Given the description of an element on the screen output the (x, y) to click on. 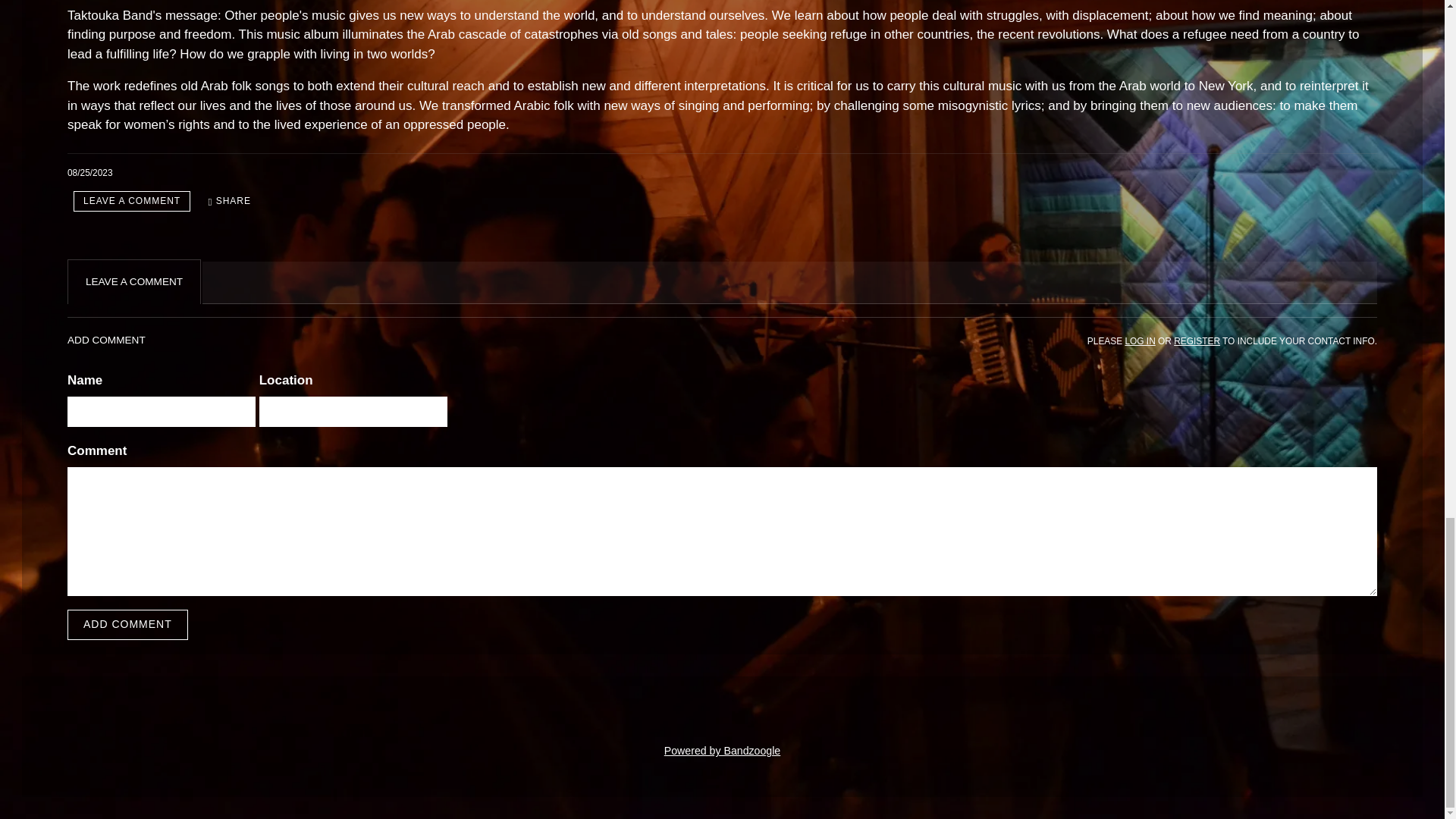
Leave a comment (132, 200)
LEAVE A COMMENT (132, 200)
Powered by Bandzoogle (721, 750)
SHARE (229, 200)
ADD COMMENT (126, 624)
August 25, 2023 11:35 (89, 172)
Powered by Bandzoogle (721, 750)
Share Taktouka Band at Barbes (229, 200)
LOG IN (1139, 340)
REGISTER (1196, 340)
